Given the description of an element on the screen output the (x, y) to click on. 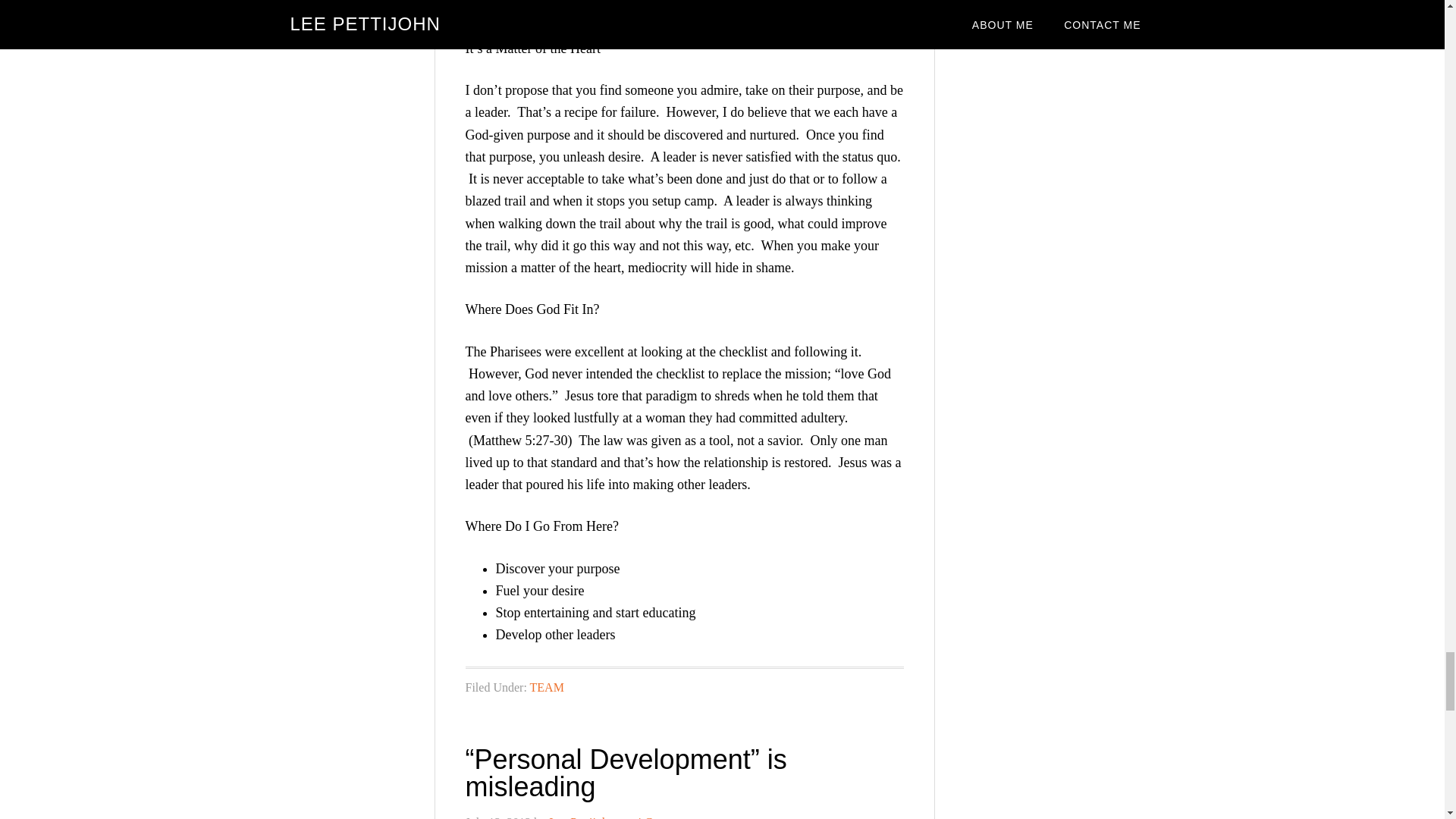
Lee Pettijohn (581, 817)
TEAM (546, 686)
4 Comments (665, 817)
